Given the description of an element on the screen output the (x, y) to click on. 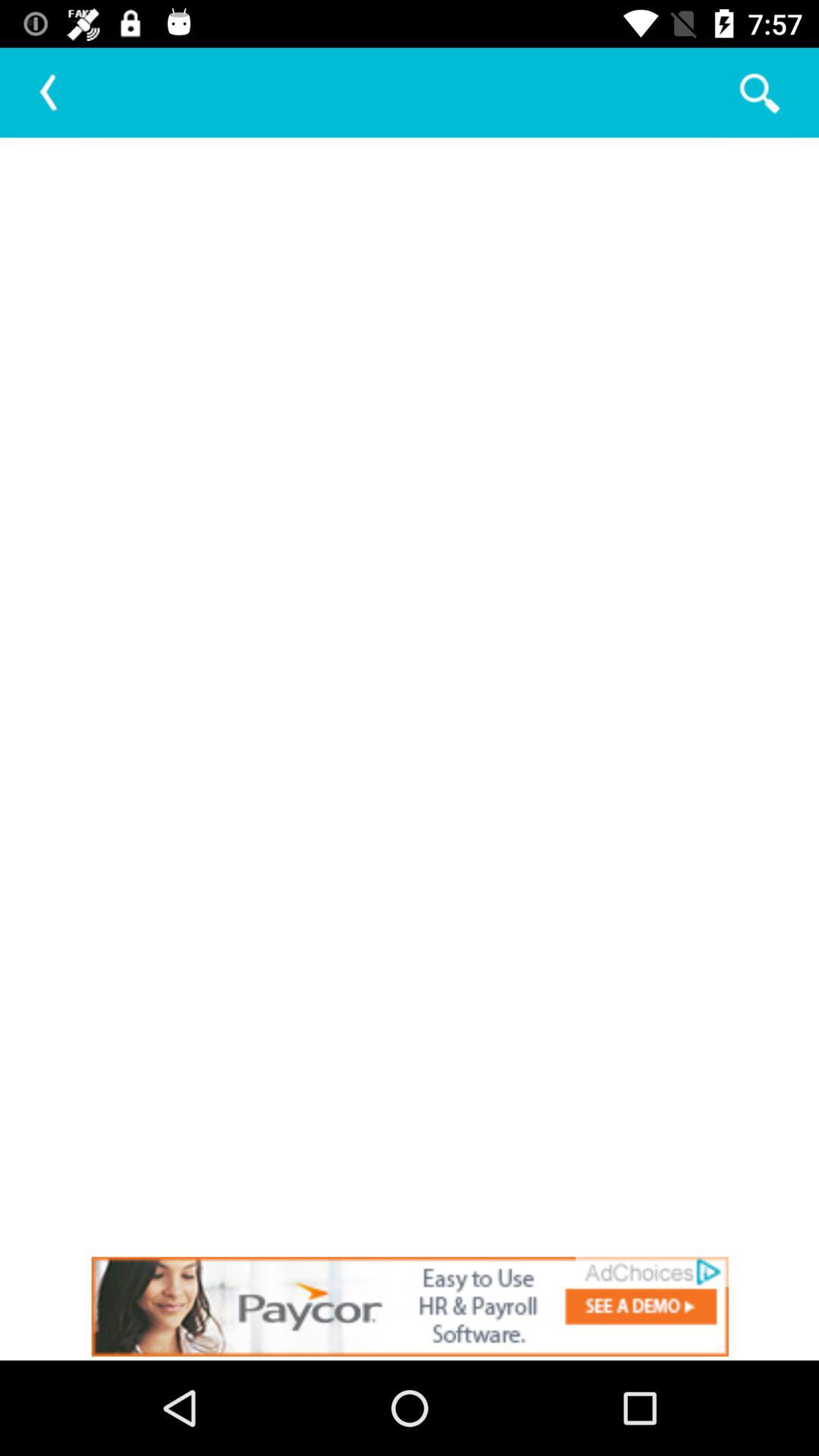
advertisement (409, 1306)
